Given the description of an element on the screen output the (x, y) to click on. 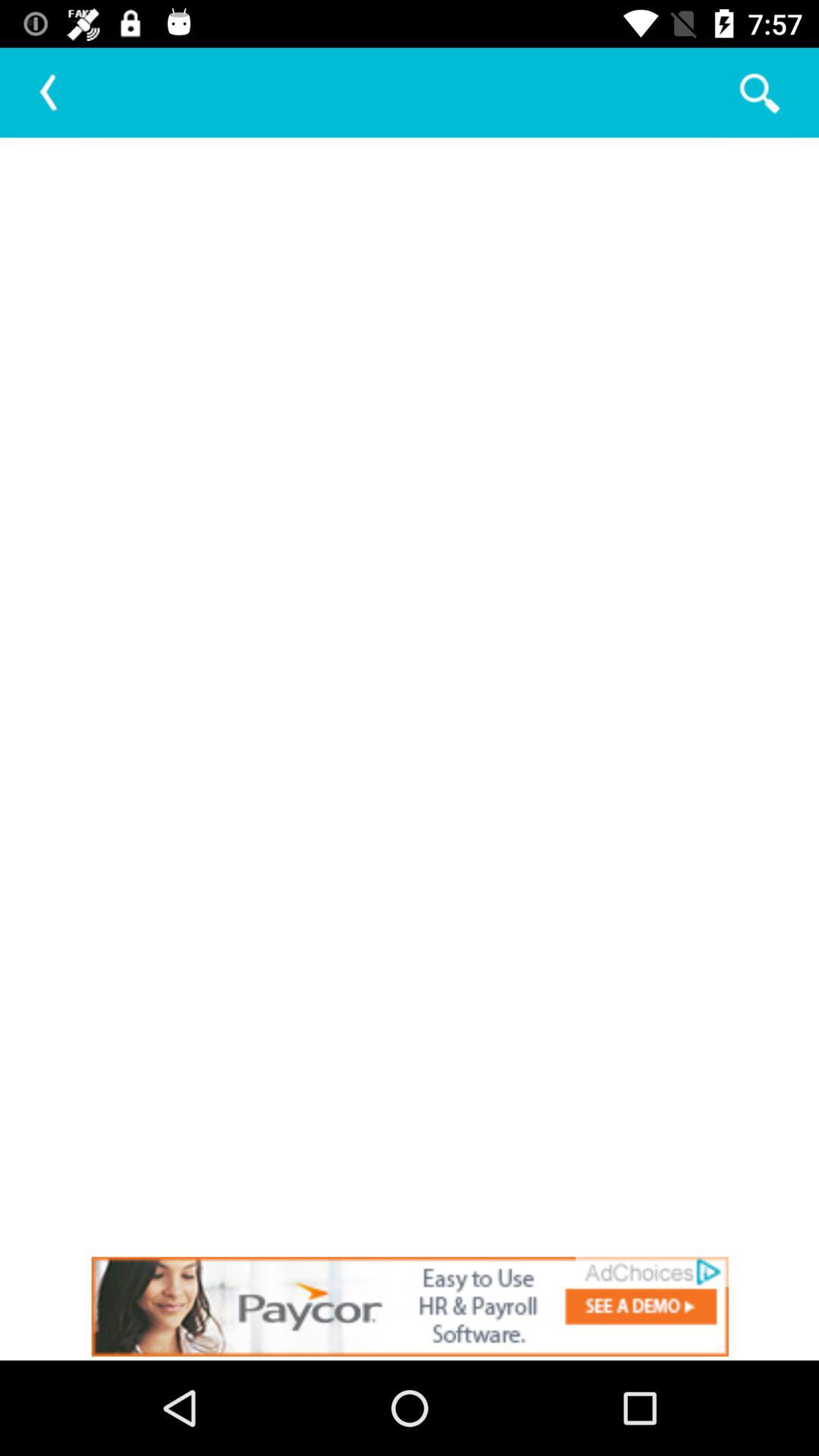
advertisement (409, 1306)
